Given the description of an element on the screen output the (x, y) to click on. 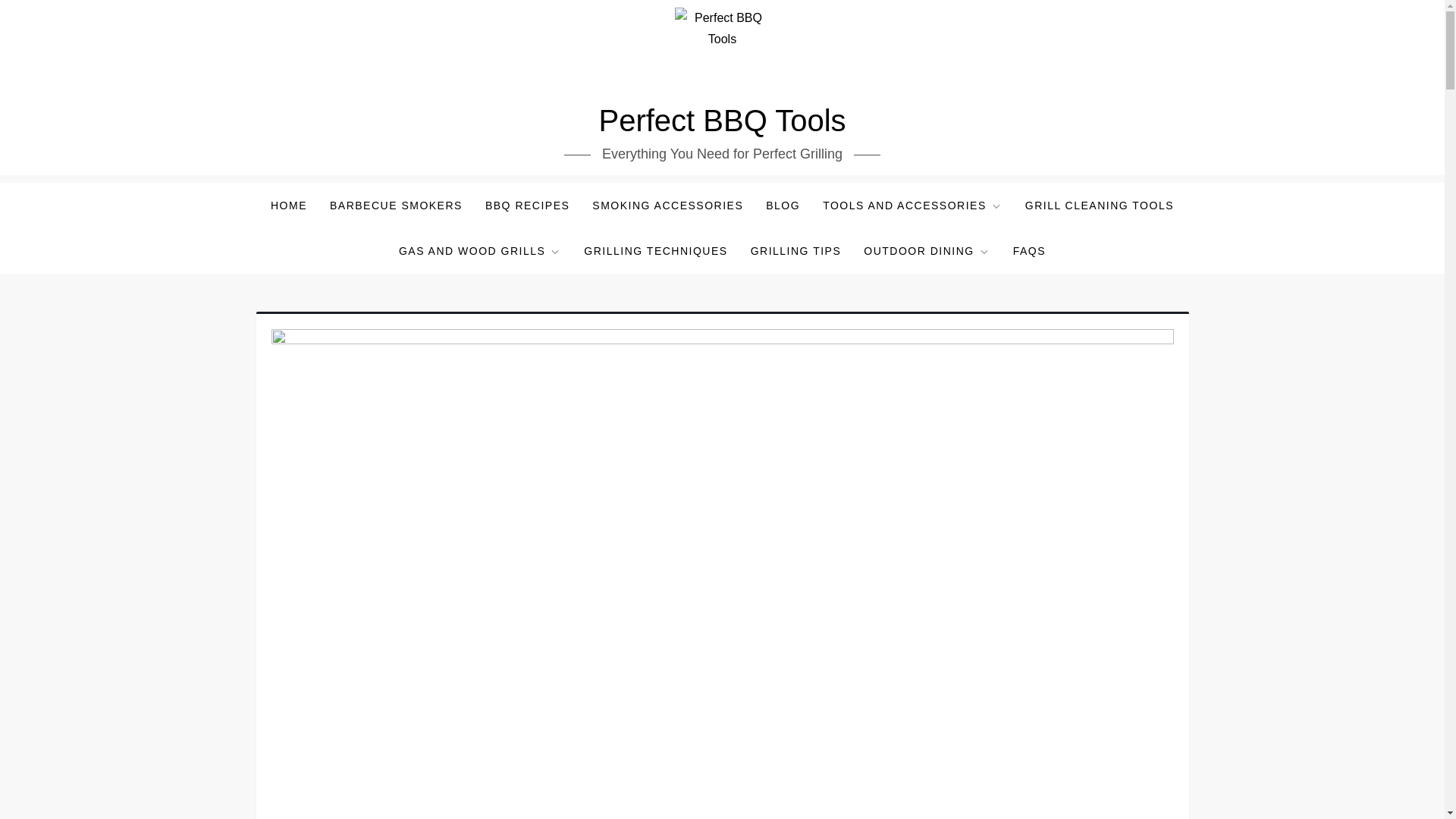
OUTDOOR DINING (926, 250)
GRILLING TIPS (796, 250)
Perfect BBQ Tools (721, 120)
HOME (288, 205)
SMOKING ACCESSORIES (667, 205)
GAS AND WOOD GRILLS (479, 250)
GRILL CLEANING TOOLS (1099, 205)
BLOG (782, 205)
TOOLS AND ACCESSORIES (911, 205)
BBQ RECIPES (527, 205)
FAQS (1029, 250)
GRILLING TECHNIQUES (655, 250)
BARBECUE SMOKERS (396, 205)
